Given the description of an element on the screen output the (x, y) to click on. 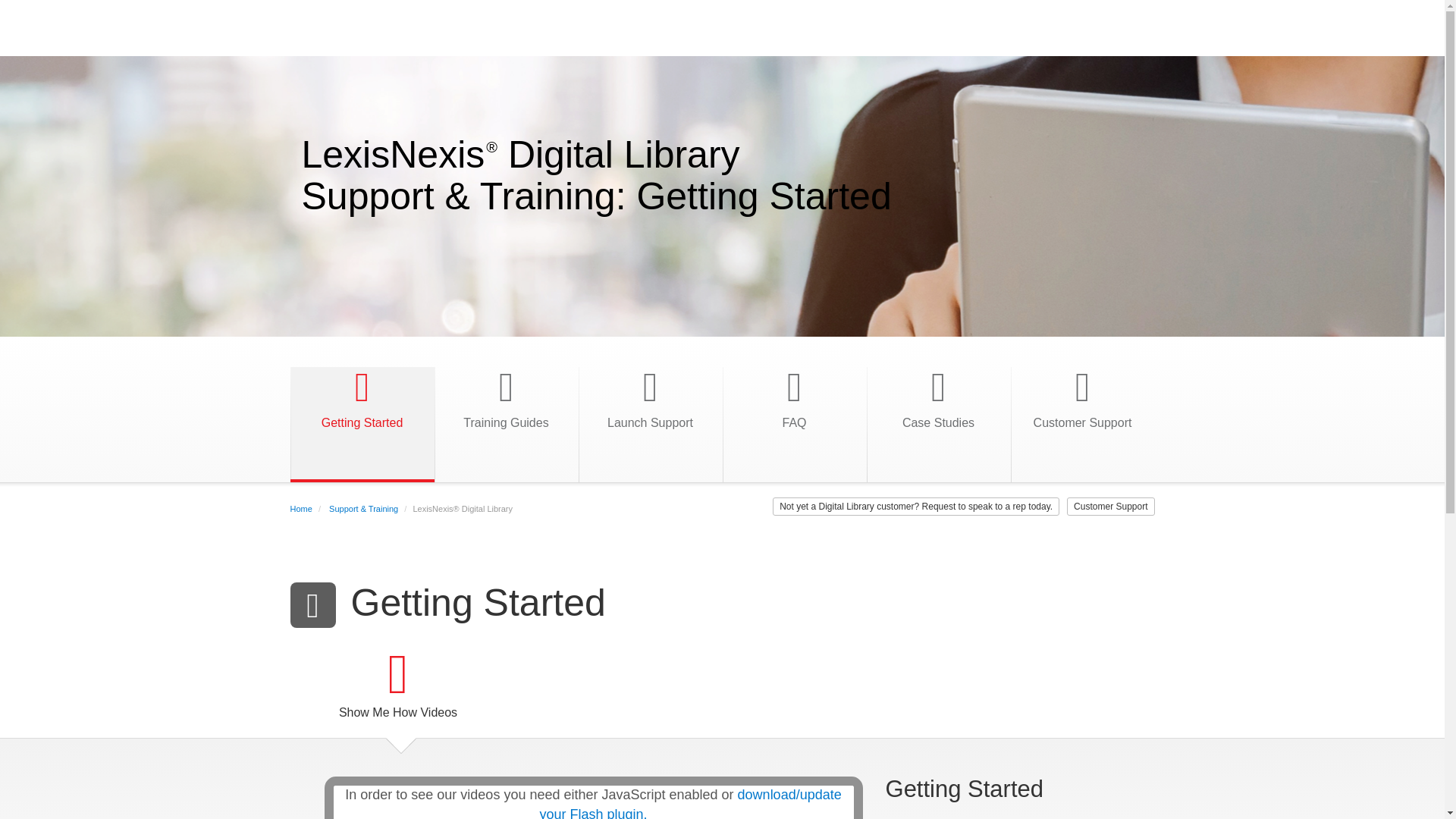
Customer Support (1110, 506)
Home (300, 508)
Skip to Main (10, 61)
Show Me How Videos (398, 690)
Case Studies (937, 413)
FAQ (794, 413)
Training Guides (506, 413)
Customer Support (1082, 413)
Launch Support (650, 413)
Getting Started (362, 413)
Customer Support (1082, 413)
Launch Support (650, 413)
FAQ (794, 413)
Getting Started (362, 413)
